Given the description of an element on the screen output the (x, y) to click on. 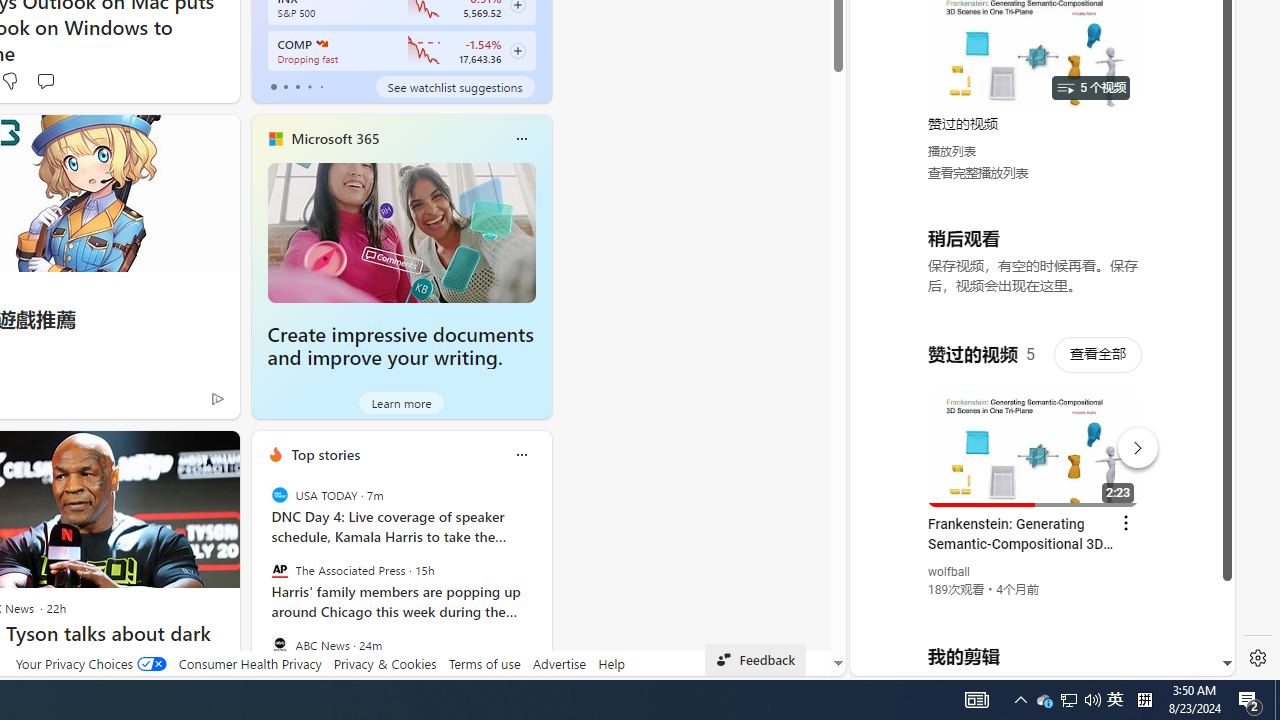
Hide this story (178, 454)
tab-1 (285, 86)
tab-3 (309, 86)
NASDAQ (320, 43)
Terms of use (484, 663)
Consumer Health Privacy (249, 663)
ABC News (279, 644)
Privacy & Cookies (384, 663)
Start the conversation (45, 80)
Top stories (325, 454)
